Given the description of an element on the screen output the (x, y) to click on. 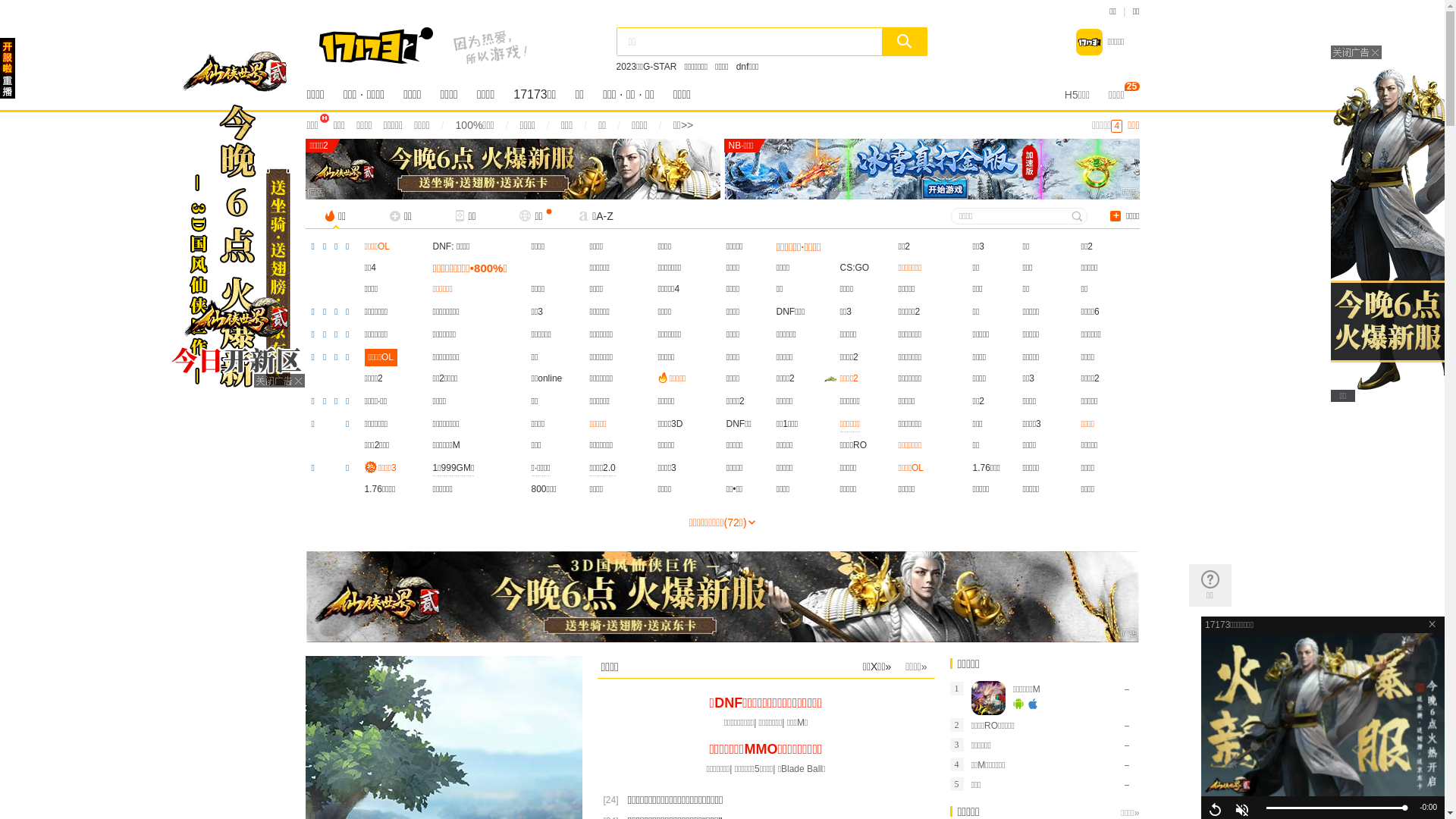
CS:GO Element type: text (854, 267)
